Given the description of an element on the screen output the (x, y) to click on. 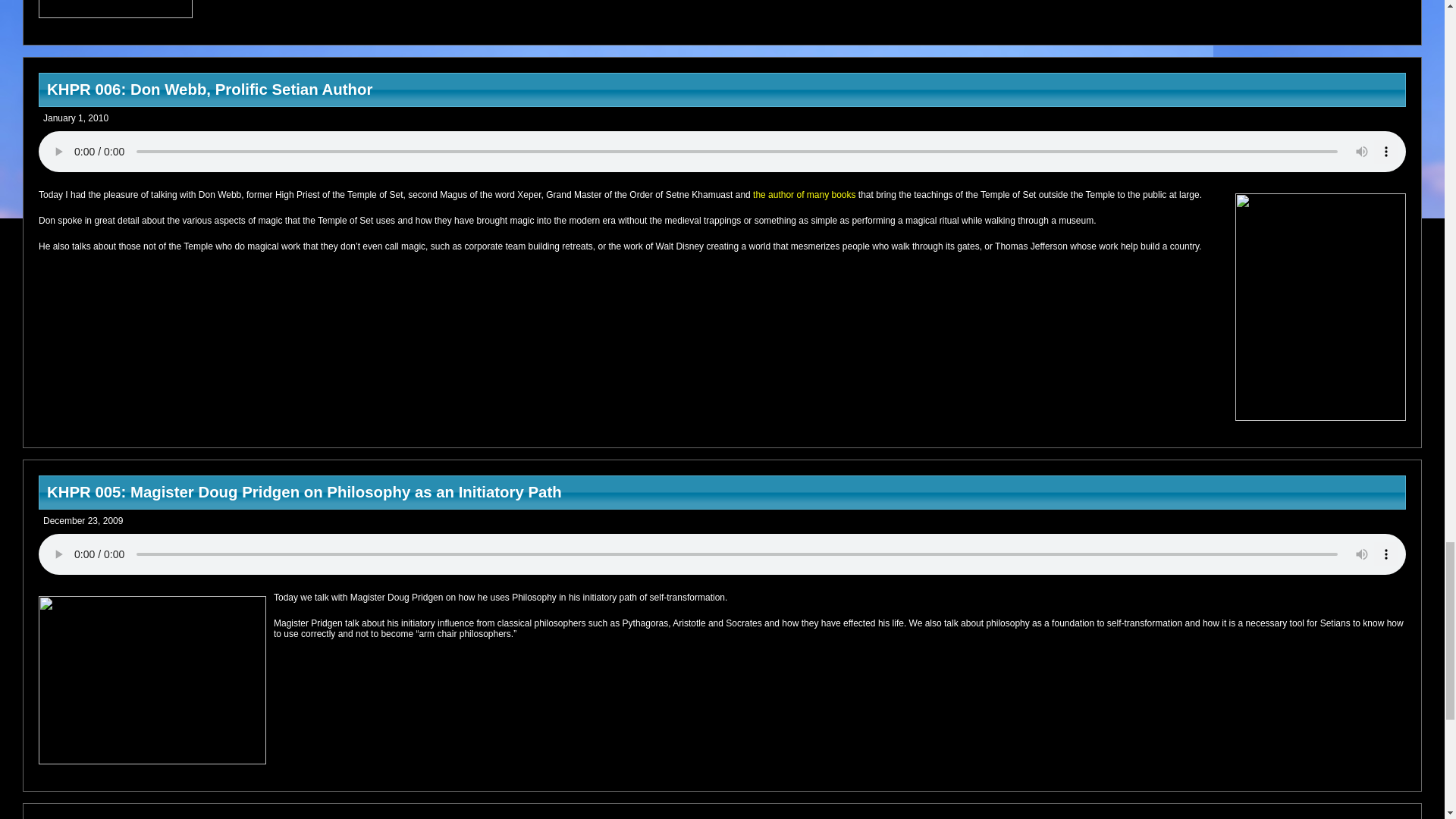
KHPR 006: Don Webb, Prolific Setian Author (722, 89)
the author of many books (804, 194)
